Given the description of an element on the screen output the (x, y) to click on. 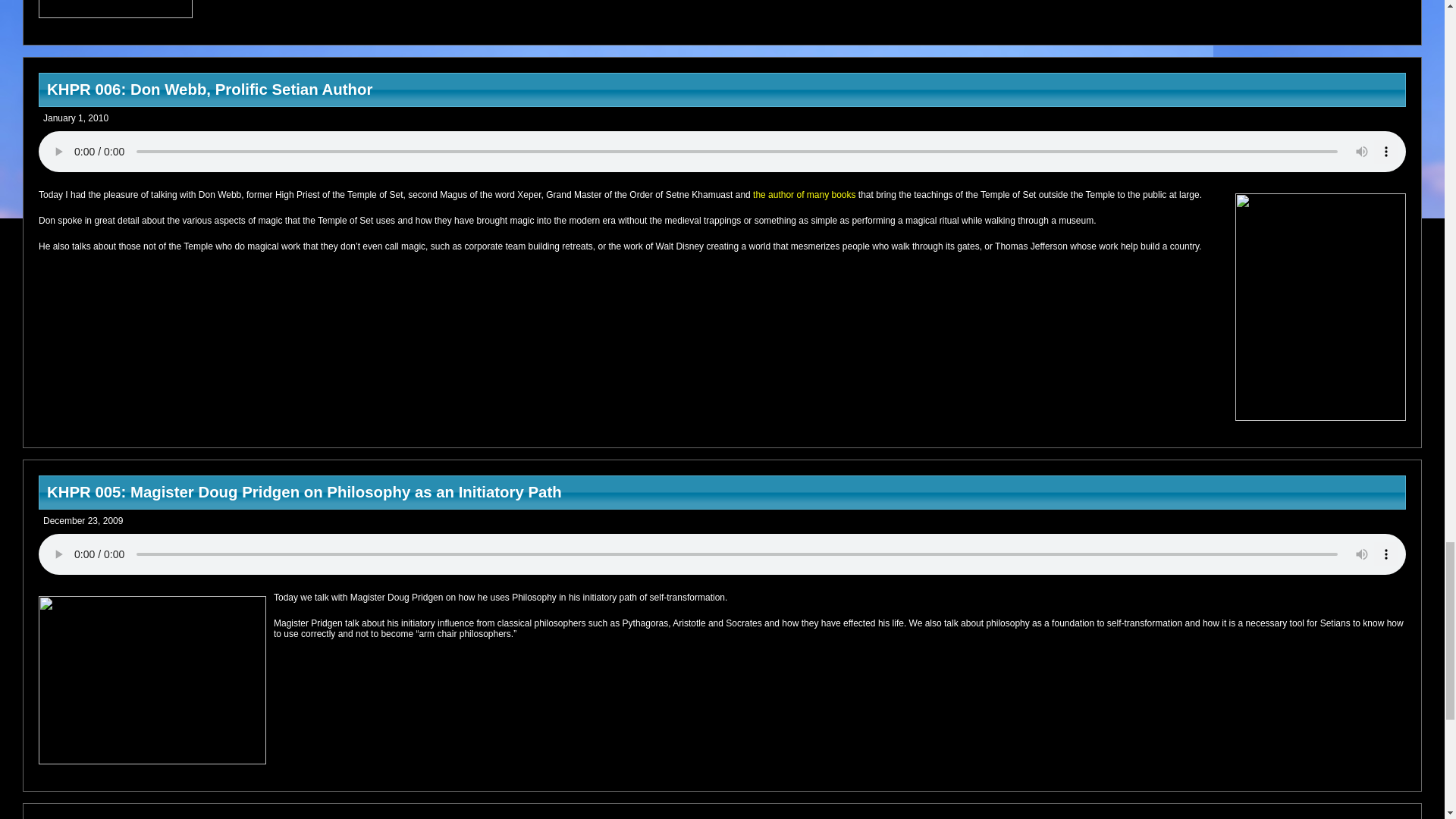
KHPR 006: Don Webb, Prolific Setian Author (722, 89)
the author of many books (804, 194)
